Given the description of an element on the screen output the (x, y) to click on. 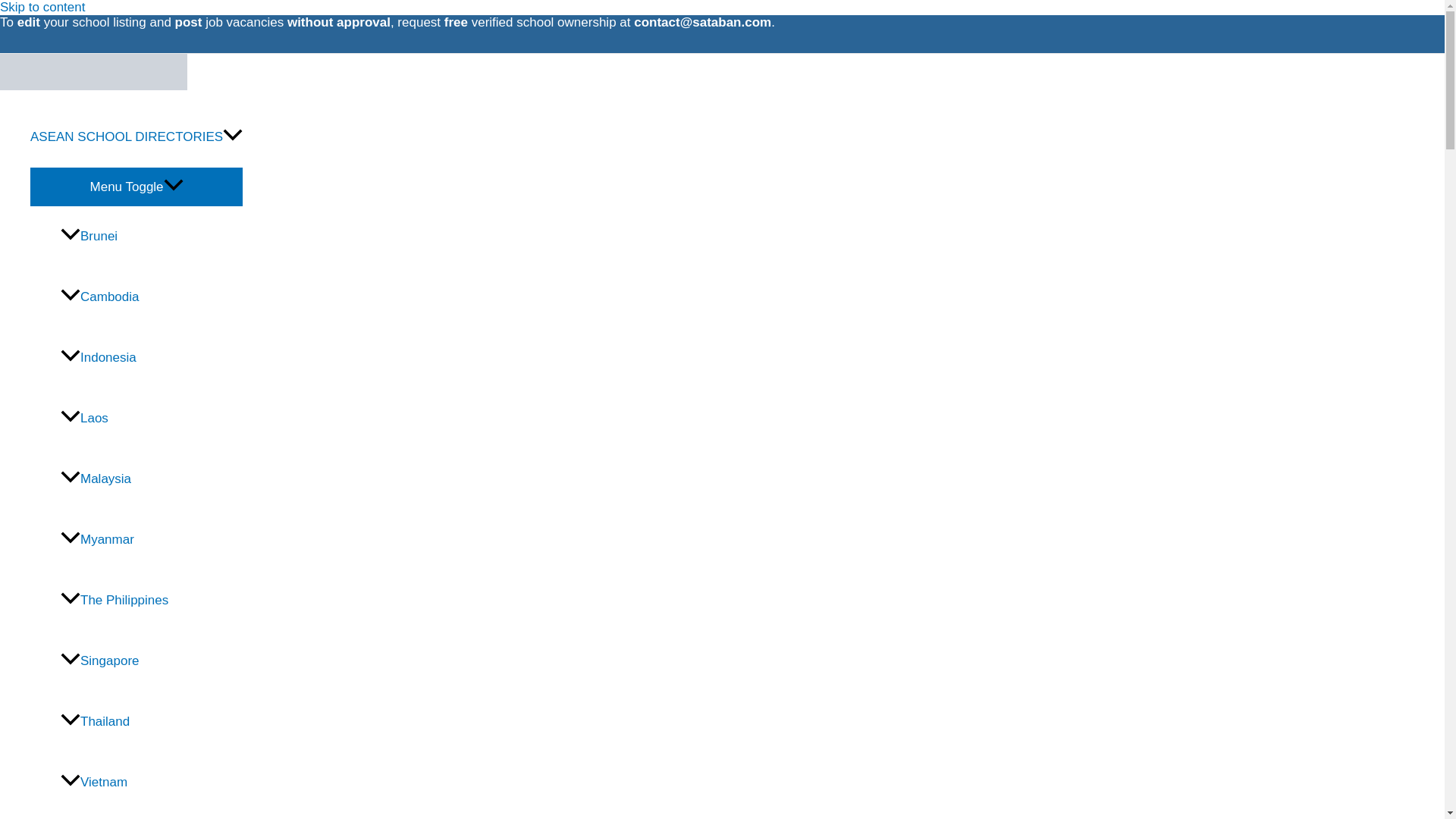
Skip to content (42, 7)
Menu Toggle (136, 185)
Cambodia (152, 296)
Vietnam (152, 782)
Indonesia (152, 357)
Malaysia (152, 478)
The Philippines (152, 600)
Brunei (152, 236)
Laos (152, 418)
Thailand (152, 721)
ASEAN SCHOOL DIRECTORIES (136, 137)
Singapore (152, 660)
Myanmar (152, 539)
Skip to content (42, 7)
